Given the description of an element on the screen output the (x, y) to click on. 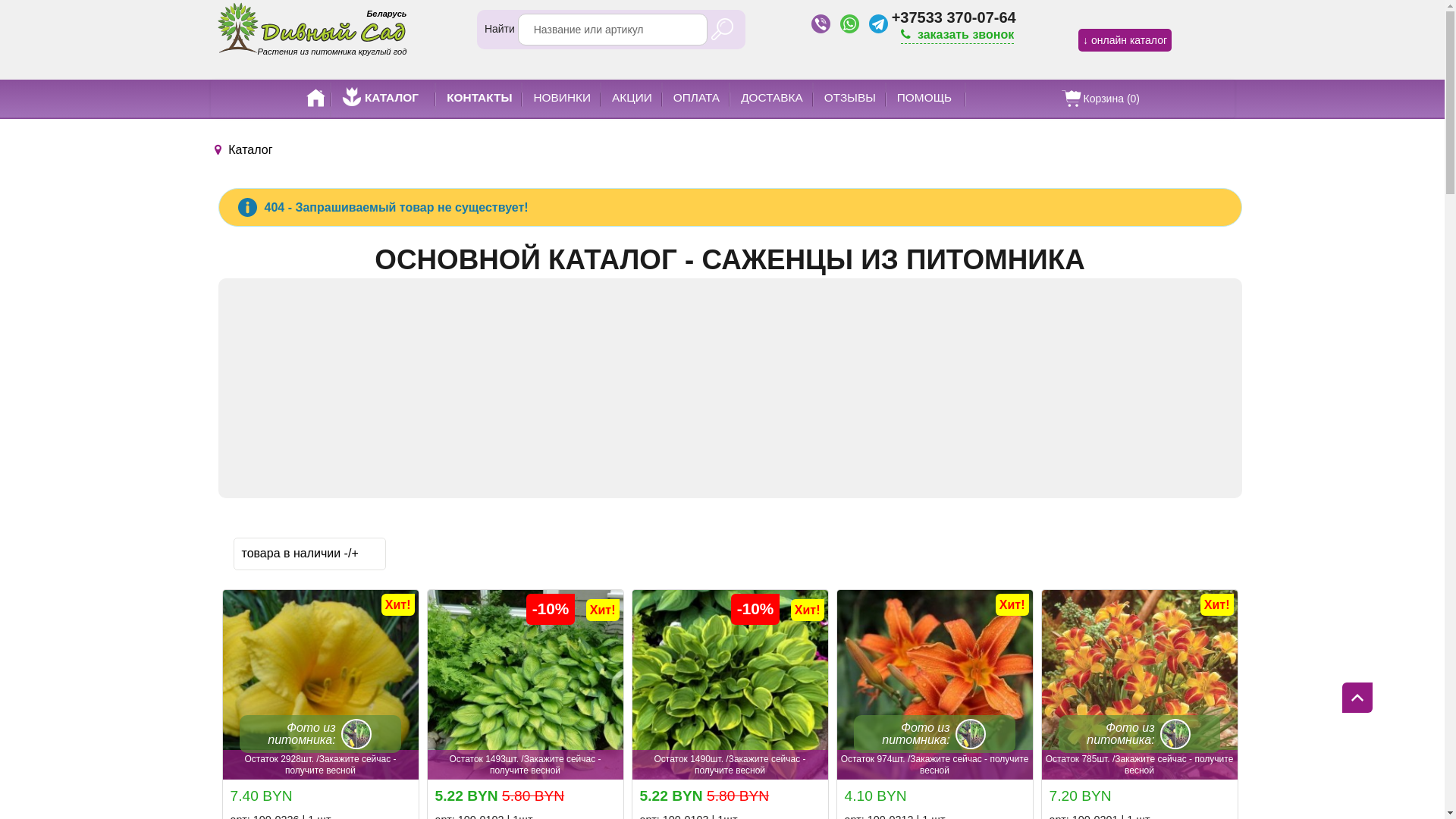
Go to Top Element type: hover (1357, 697)
+37533 370-07-64 Element type: text (953, 17)
